Given the description of an element on the screen output the (x, y) to click on. 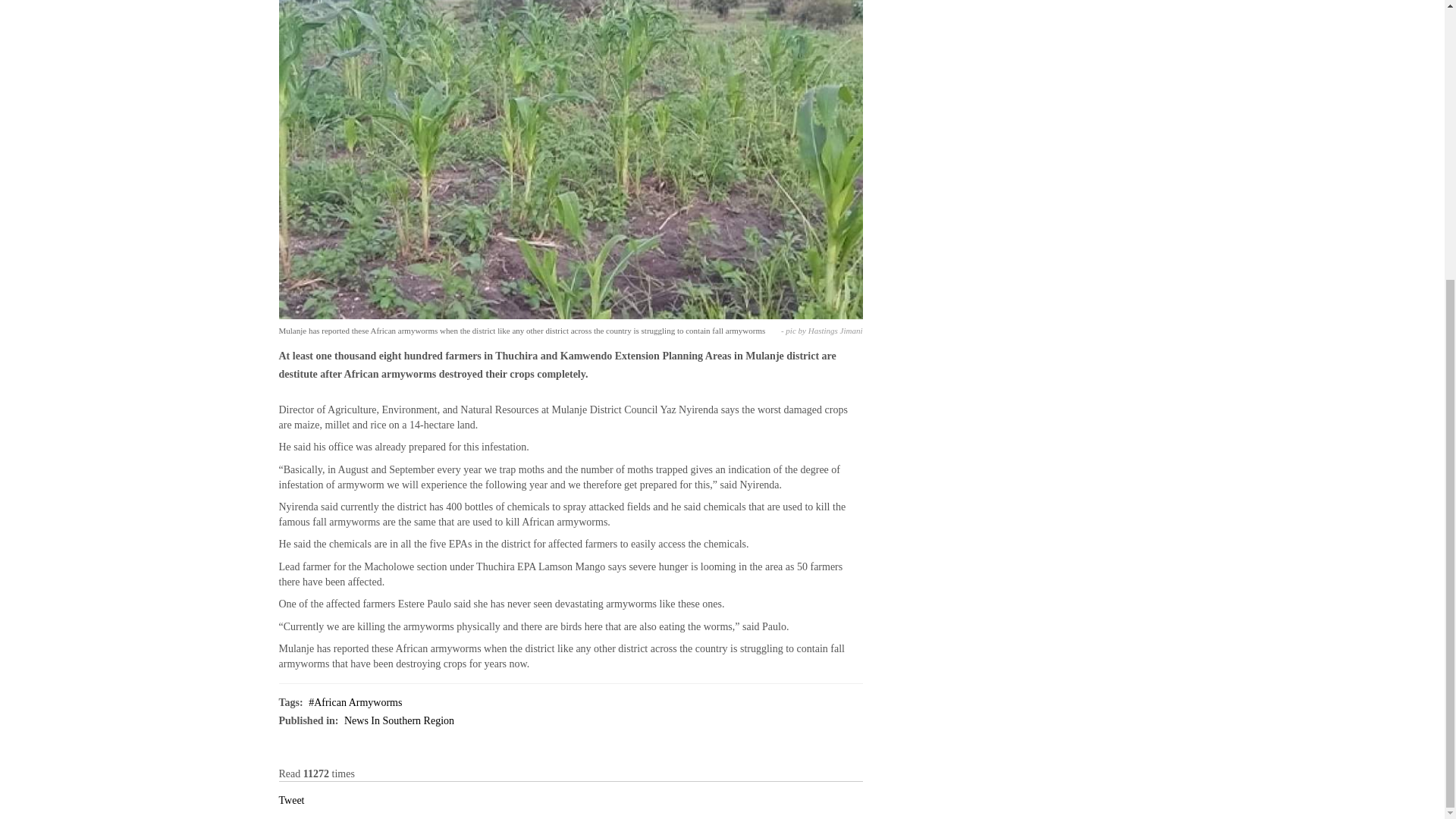
News In Southern Region (398, 720)
Tweet (291, 799)
African Armyworms (354, 702)
